Given the description of an element on the screen output the (x, y) to click on. 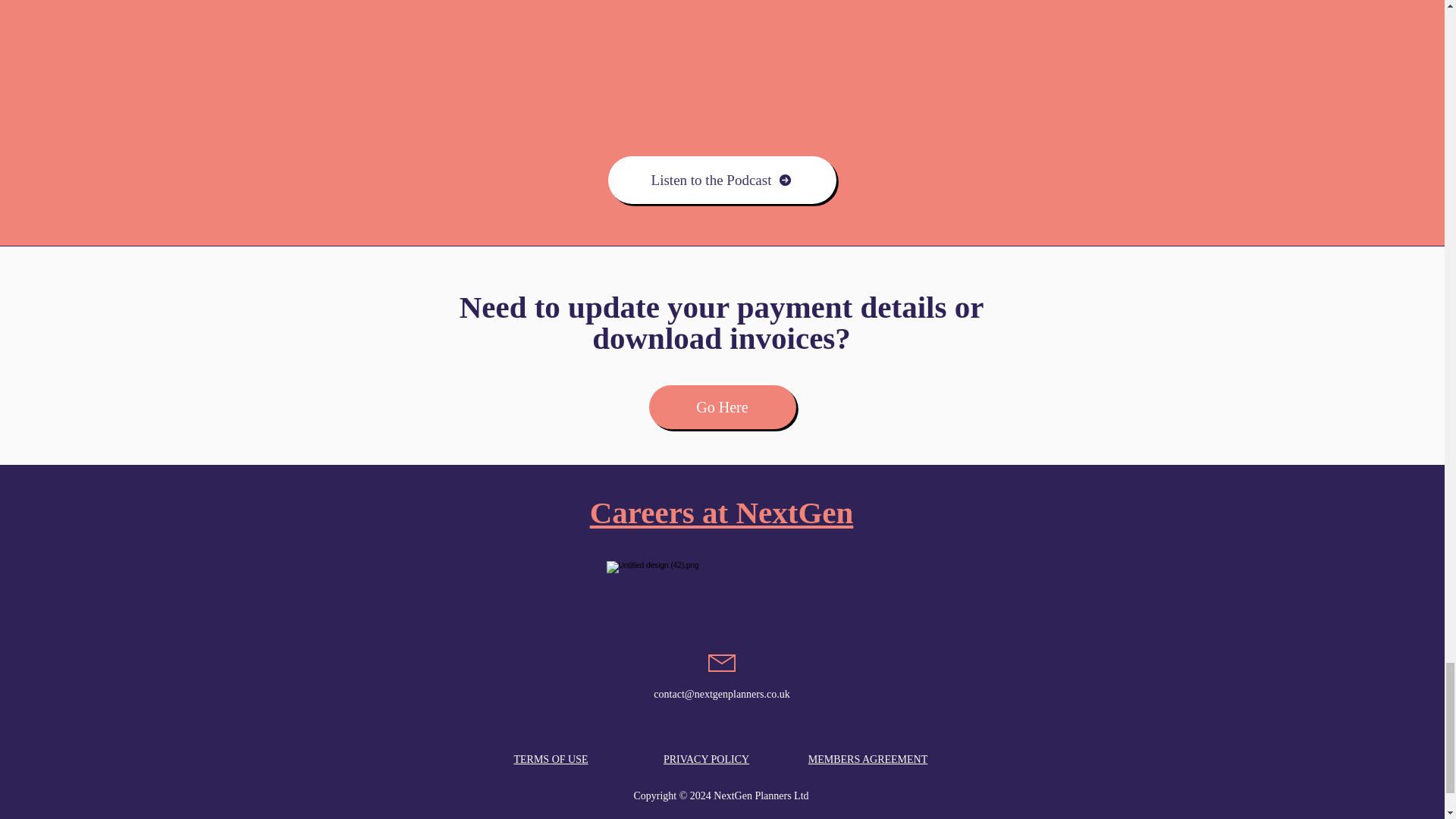
PRIVACY POLICY (706, 758)
Careers at NextGen (721, 512)
Go Here (722, 406)
TERMS OF USE (550, 758)
MEMBERS AGREEMENT (868, 758)
Listen to the Podcast (721, 179)
